Given the description of an element on the screen output the (x, y) to click on. 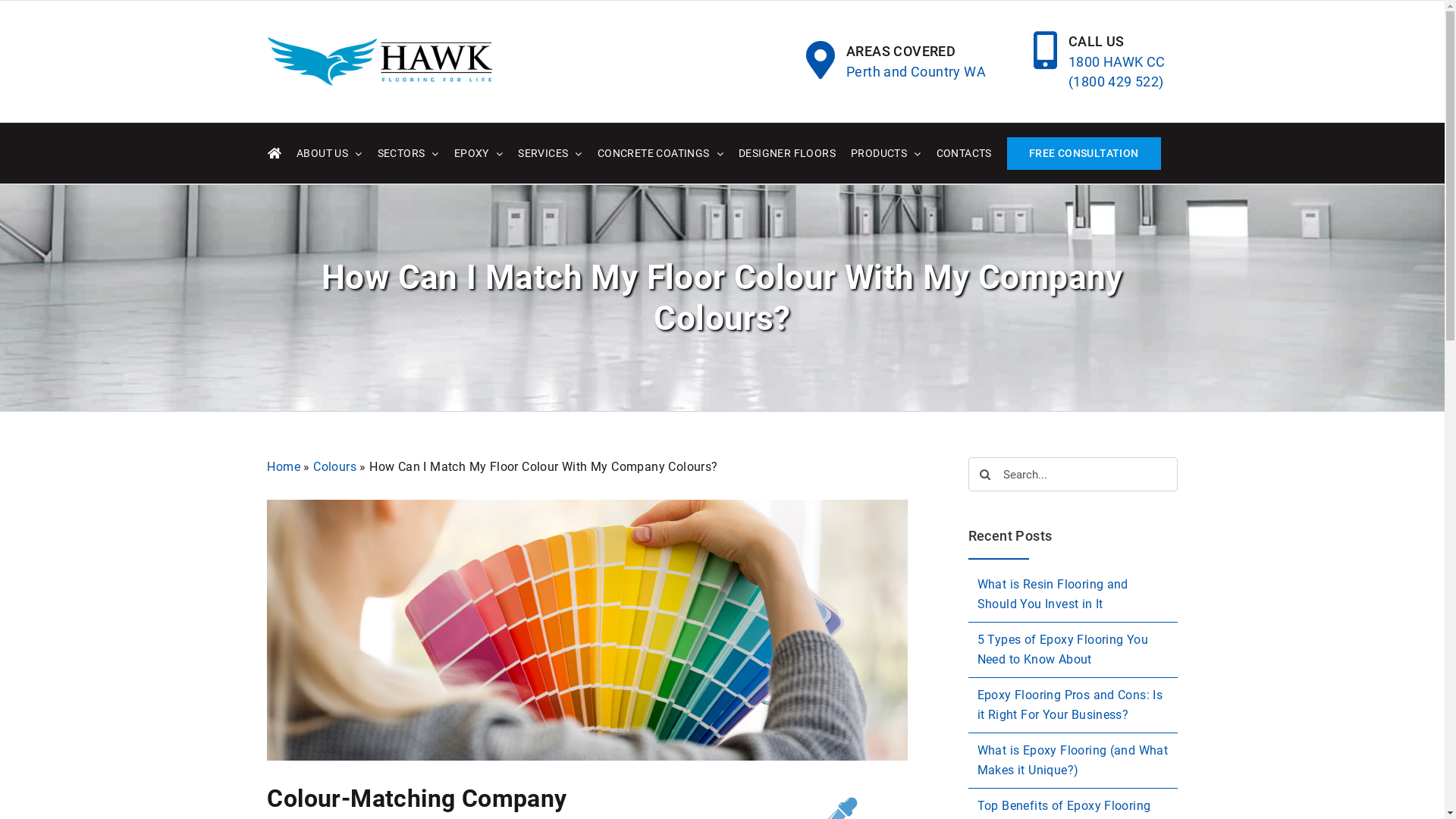
How Can I Match My Floor Colour With My Company Colours? 1 Element type: hover (586, 629)
DESIGNER FLOORS Element type: text (786, 152)
SECTORS Element type: text (408, 152)
SERVICES Element type: text (549, 152)
What is Resin Flooring and Should You Invest in It Element type: text (1051, 594)
CONTACTS Element type: text (963, 152)
FREE CONSULTATION Element type: text (1084, 152)
EPOXY Element type: text (478, 152)
Home Element type: text (283, 466)
Epoxy Flooring Pros and Cons: Is it Right For Your Business? Element type: text (1069, 704)
PRODUCTS Element type: text (885, 152)
CONCRETE COATINGS Element type: text (660, 152)
Colours Element type: text (334, 466)
1800 HAWK CC (1800 429 522) Element type: text (1119, 71)
ABOUT US Element type: text (329, 152)
What is Epoxy Flooring (and What Makes it Unique?) Element type: text (1071, 760)
5 Types of Epoxy Flooring You Need to Know About Element type: text (1062, 649)
